Given the description of an element on the screen output the (x, y) to click on. 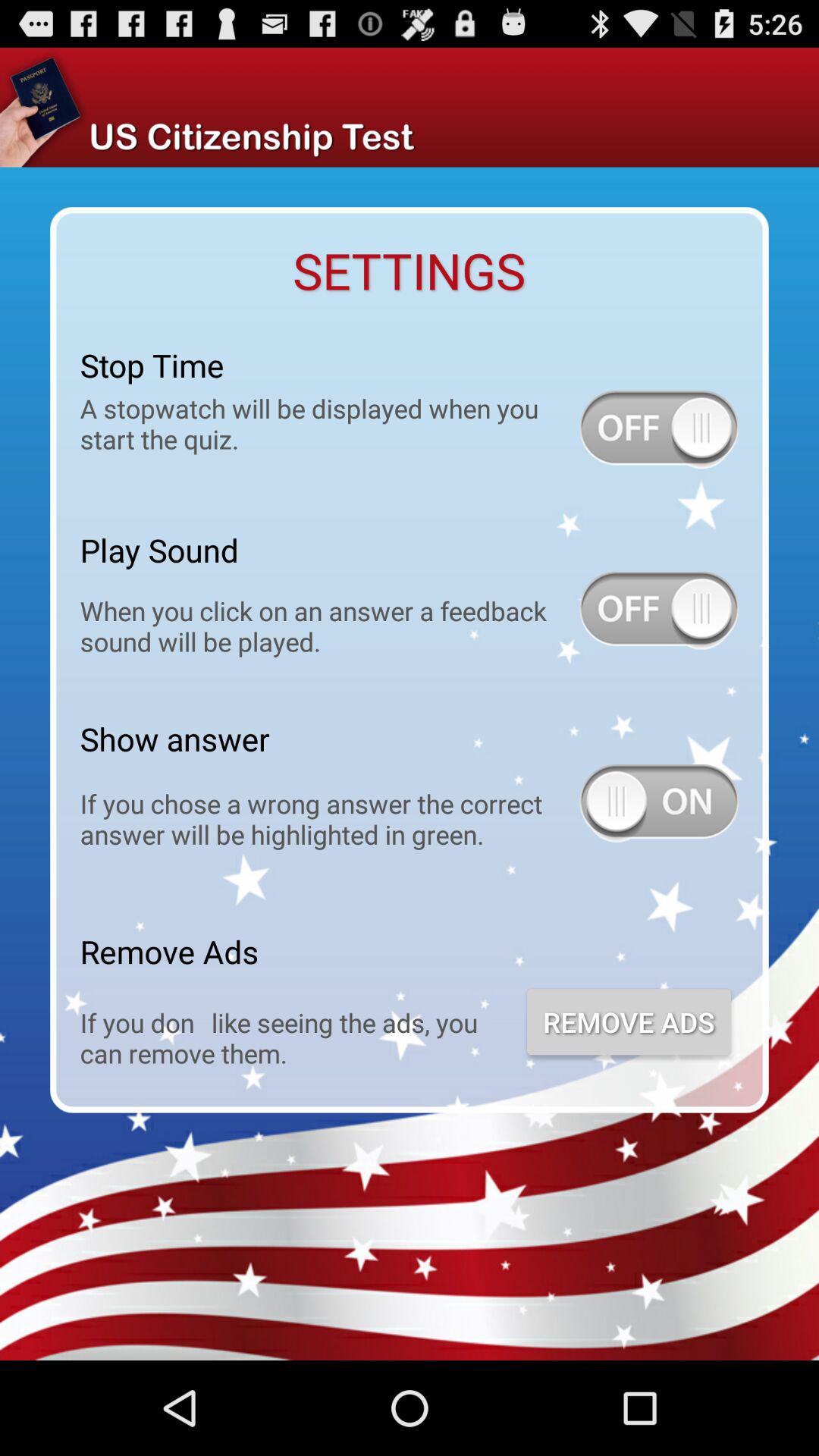
toggle play sound option (658, 610)
